Given the description of an element on the screen output the (x, y) to click on. 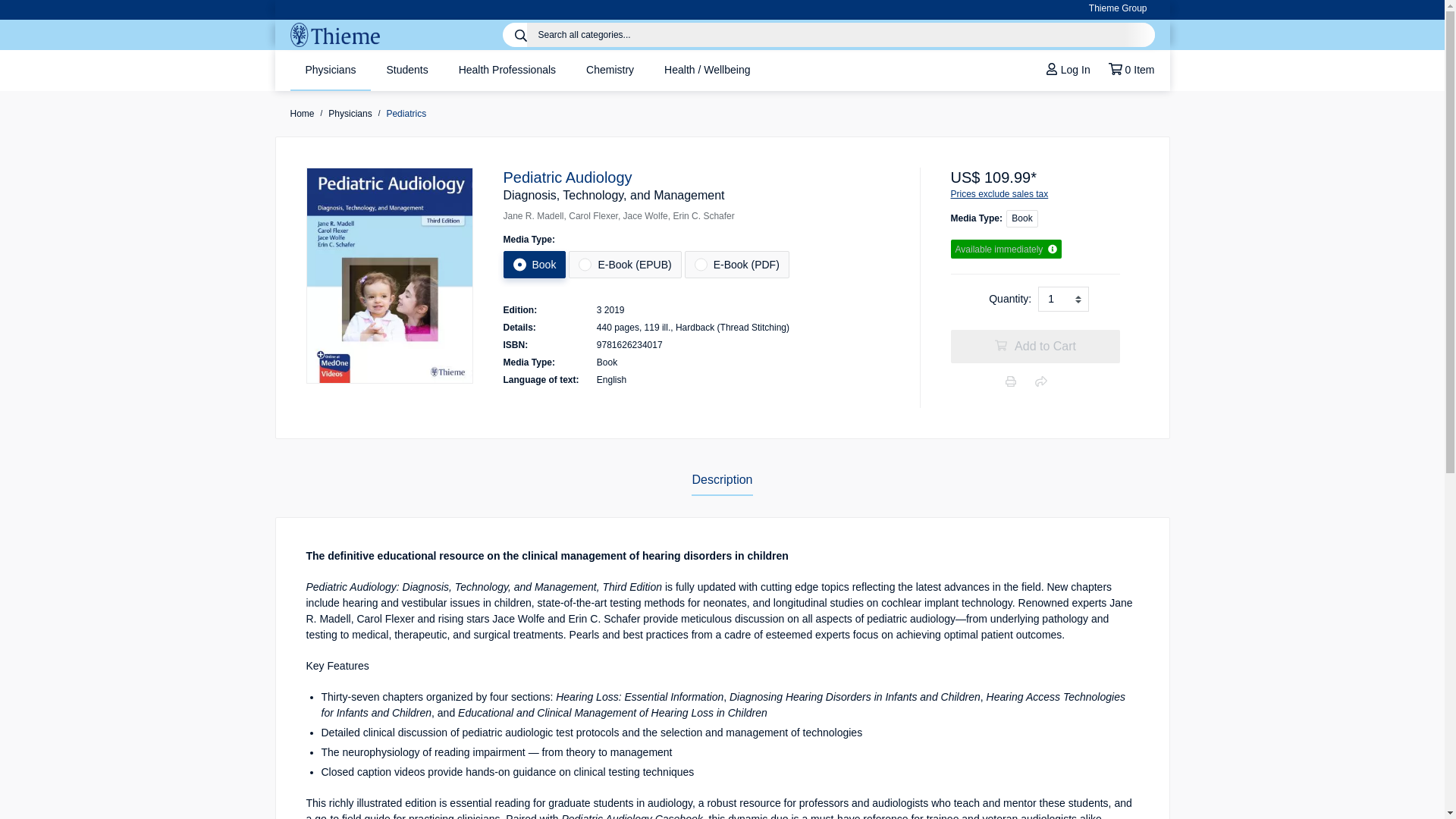
Go to homepage (333, 34)
Physicians (330, 69)
Thieme Group (1118, 9)
Chemistry (609, 69)
Health Professionals (507, 69)
Chemistry (609, 69)
Students (406, 69)
Thieme Group (1118, 9)
Health Professionals (507, 69)
Students (406, 69)
Physicians (330, 69)
